Given the description of an element on the screen output the (x, y) to click on. 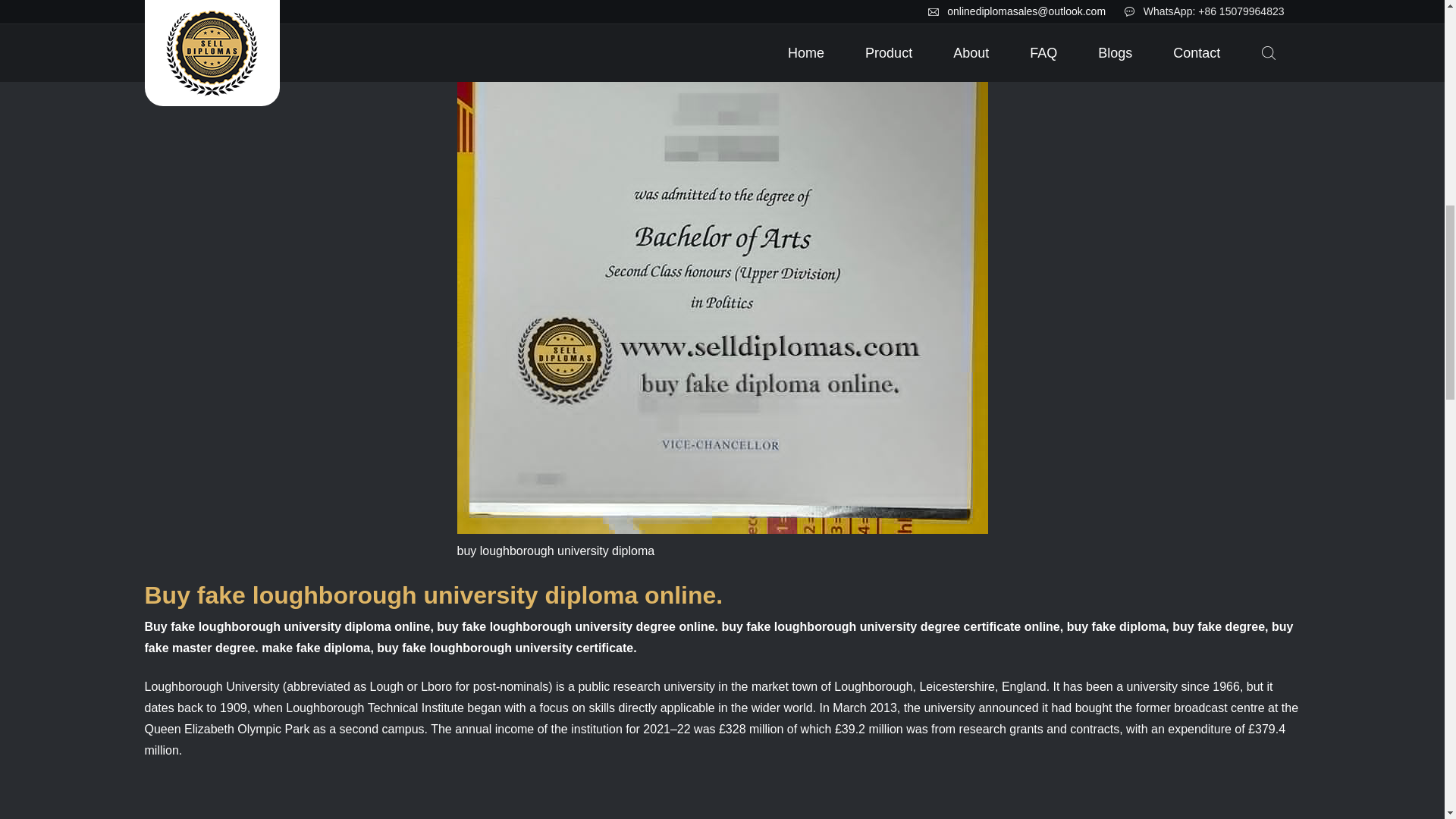
buy fake diploma, (1118, 626)
